Given the description of an element on the screen output the (x, y) to click on. 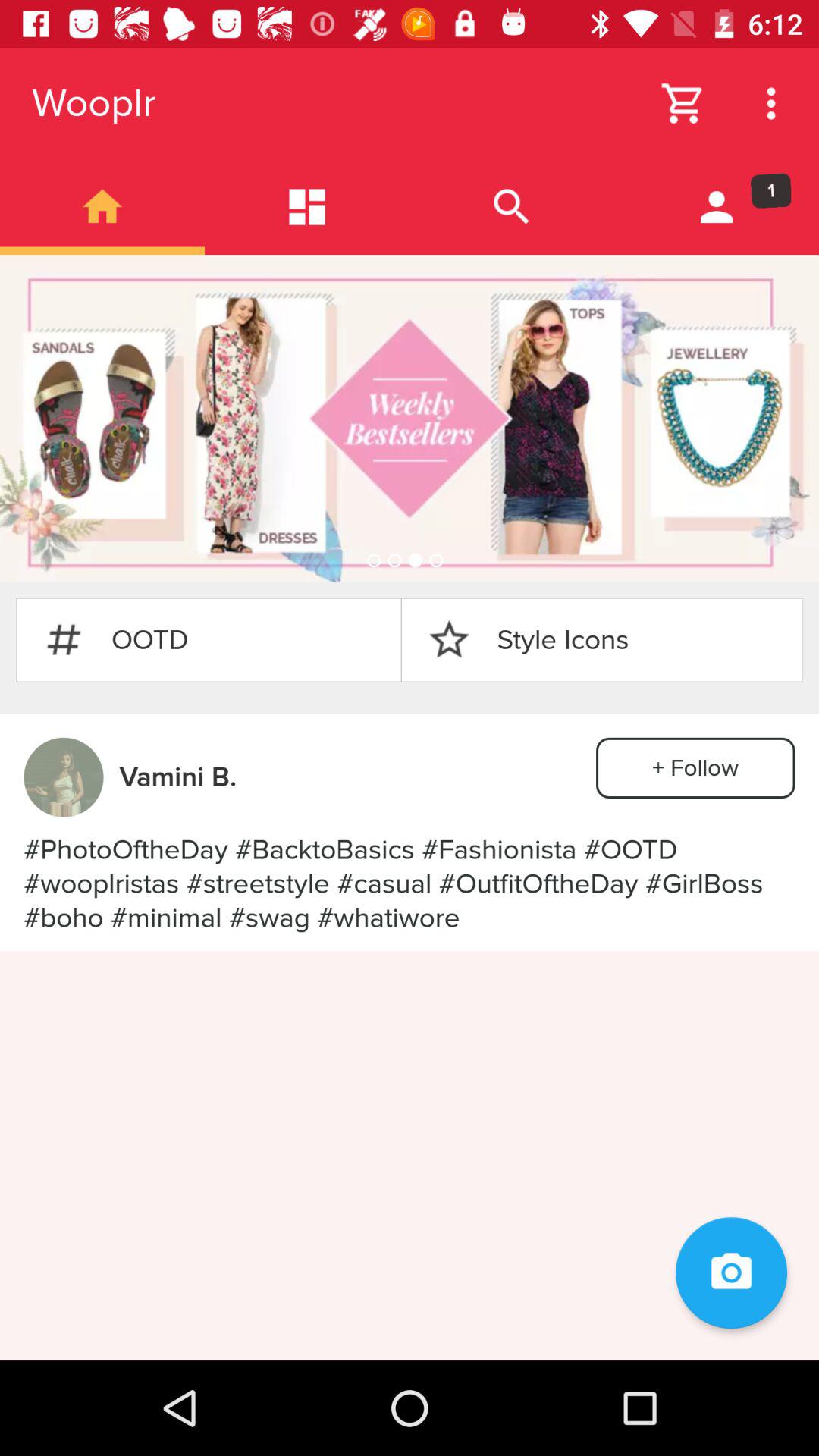
click on follow (695, 767)
